Given the description of an element on the screen output the (x, y) to click on. 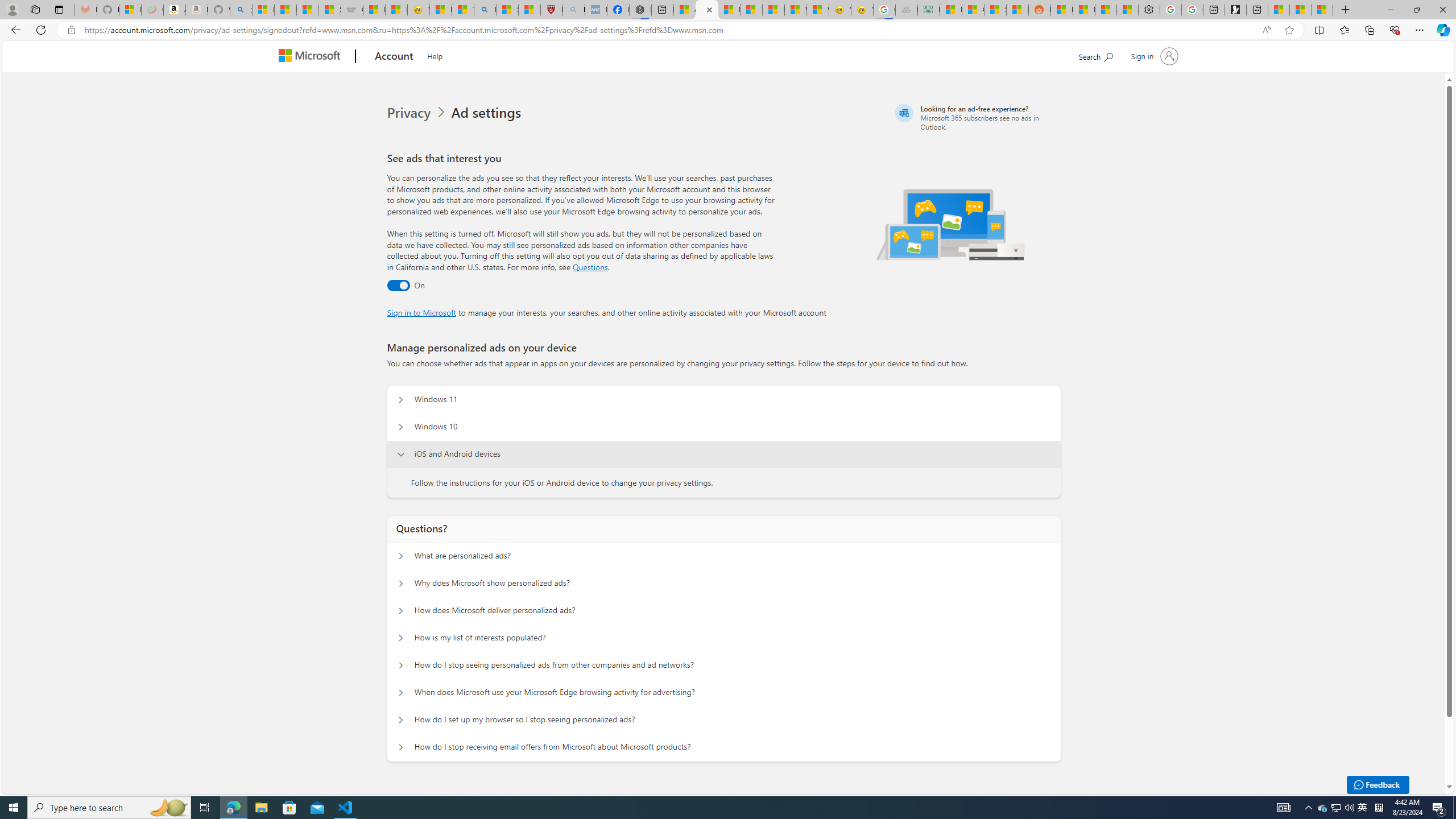
Questions? Why does Microsoft show personalized ads? (401, 583)
Privacy (410, 112)
Questions? How is my list of interests populated? (401, 638)
Bing (484, 9)
Address and search bar (669, 29)
Recipes - MSN (441, 9)
Collections (1369, 29)
